Given the description of an element on the screen output the (x, y) to click on. 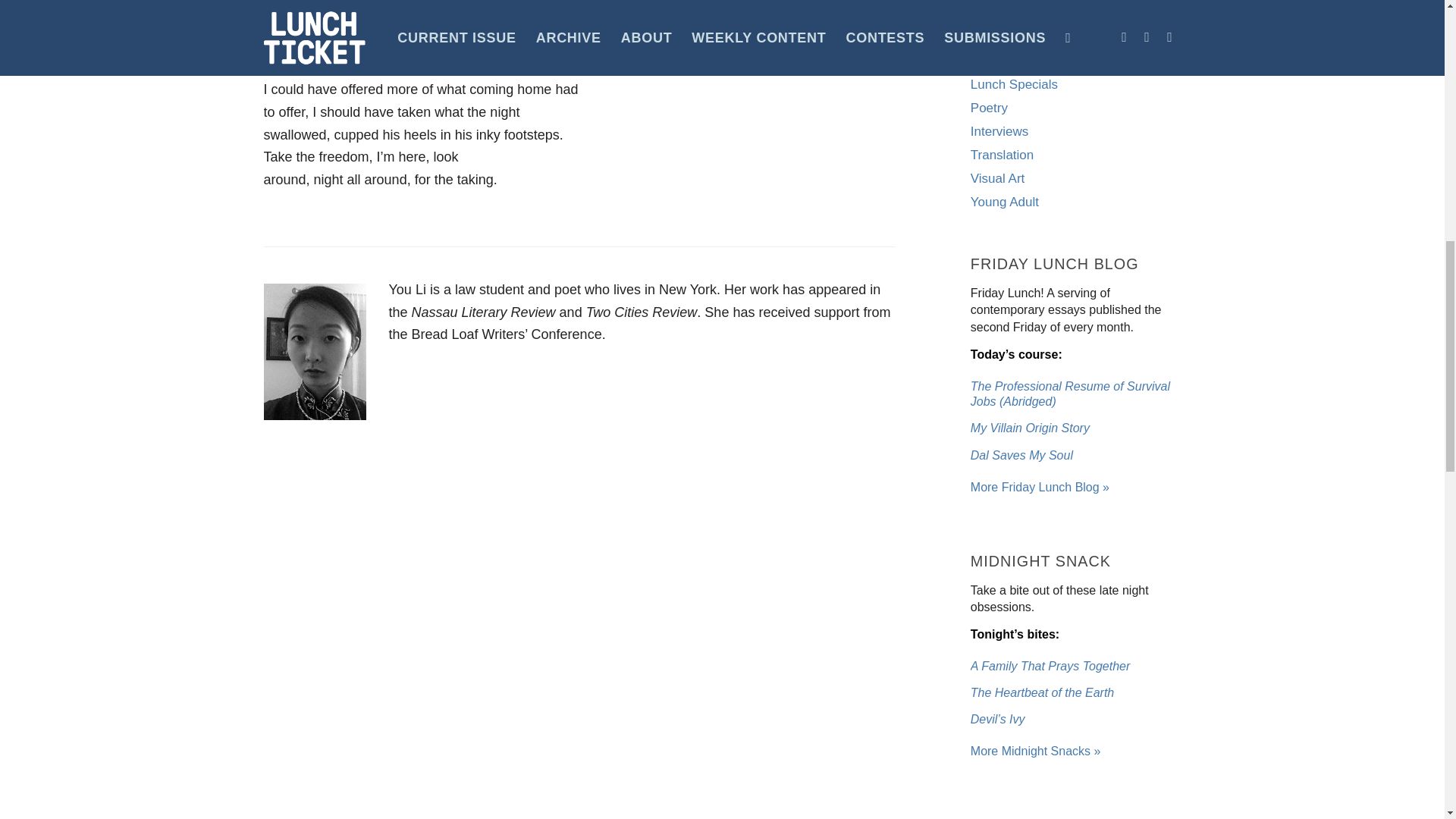
Permanent Link: The Heartbeat of the Earth (1042, 692)
Permanent Link: Dal Saves My Soul (1022, 454)
Welcome to Lunch Ticket (1040, 486)
Permanent Link: My Villain Origin Story (1030, 427)
Permanent Link: A Family That Prays Together (1050, 666)
